Given the description of an element on the screen output the (x, y) to click on. 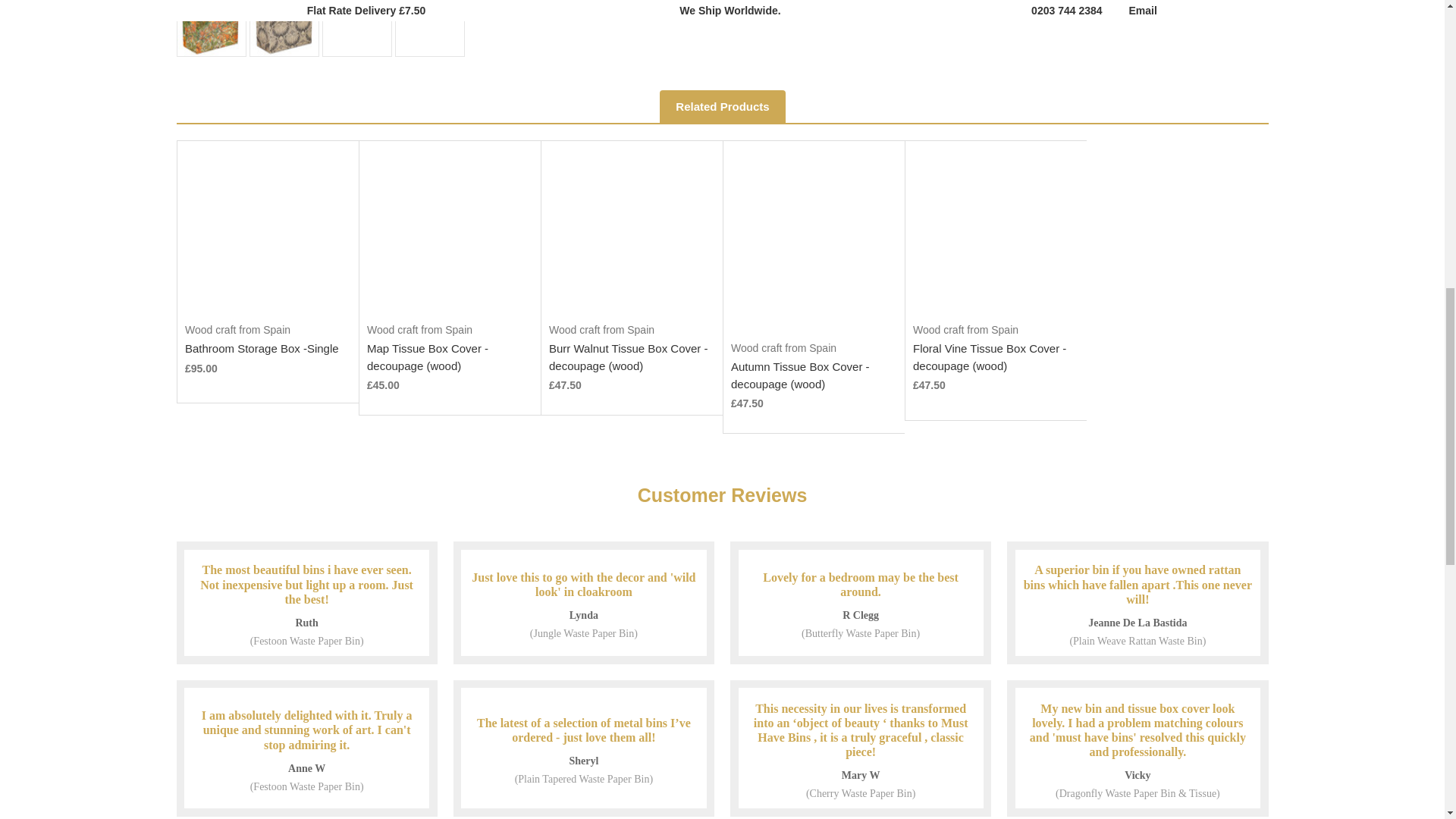
Bathroom Storage Set - Orange Morris Vine (430, 28)
